Given the description of an element on the screen output the (x, y) to click on. 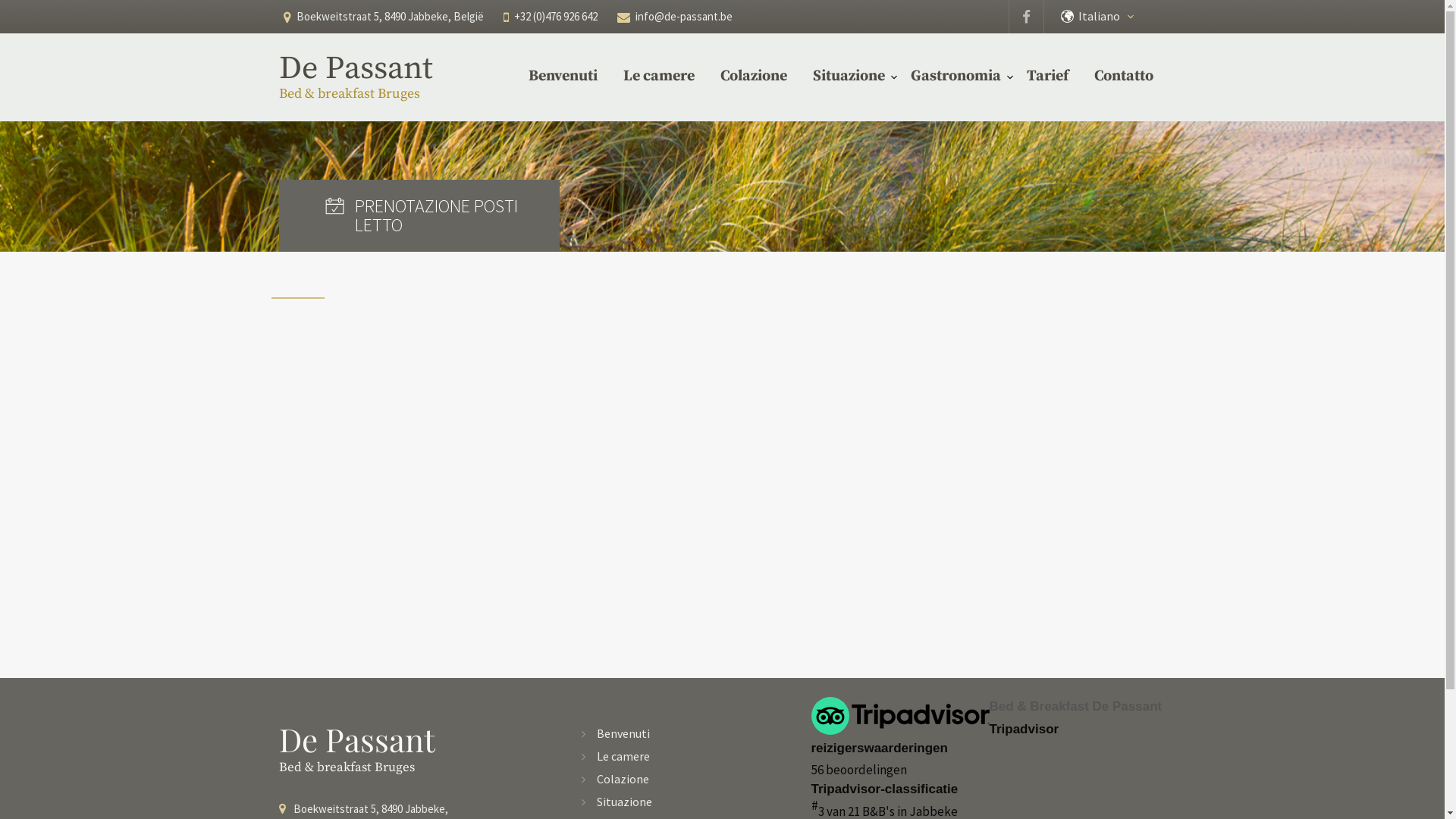
Benvenuti Element type: text (622, 732)
Le camere Element type: text (658, 77)
Situazione Element type: text (624, 801)
Gastronomia Element type: text (955, 77)
De Passant
Bed & breakfast Bruges Element type: text (368, 75)
info@de-passant.be Element type: text (683, 16)
Benvenuti Element type: text (561, 77)
Colazione Element type: text (753, 77)
Bed & Breakfast De Passant Element type: text (988, 705)
PRENOTAZIONE POSTI LETTO Element type: text (419, 215)
Contatto Element type: text (1122, 77)
Colazione Element type: text (622, 778)
Tarief Element type: text (1047, 77)
+32 (0)476 926 642 Element type: text (555, 16)
Situazione Element type: text (848, 77)
Italiano Element type: text (1109, 15)
Le camere Element type: text (622, 755)
De Passant
Bed & breakfast Bruges Element type: text (419, 748)
